Given the description of an element on the screen output the (x, y) to click on. 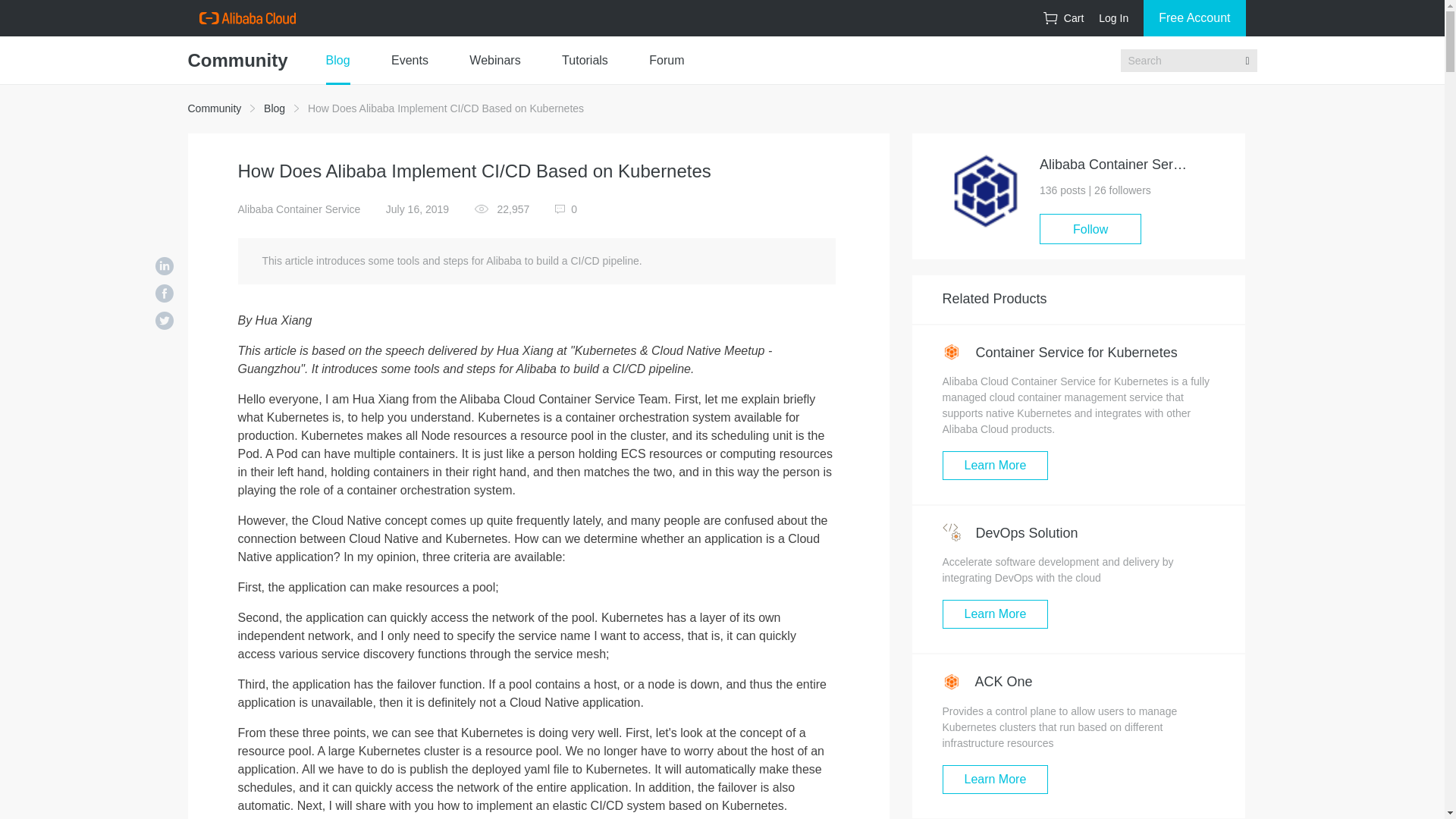
AliCloud (246, 18)
  Cart (1062, 17)
Webinars (493, 60)
Log In (1112, 17)
Free Account (1193, 18)
Blog (274, 108)
0 (565, 209)
Tutorials (585, 60)
Community (214, 108)
Alibaba Container Service (299, 209)
